Given the description of an element on the screen output the (x, y) to click on. 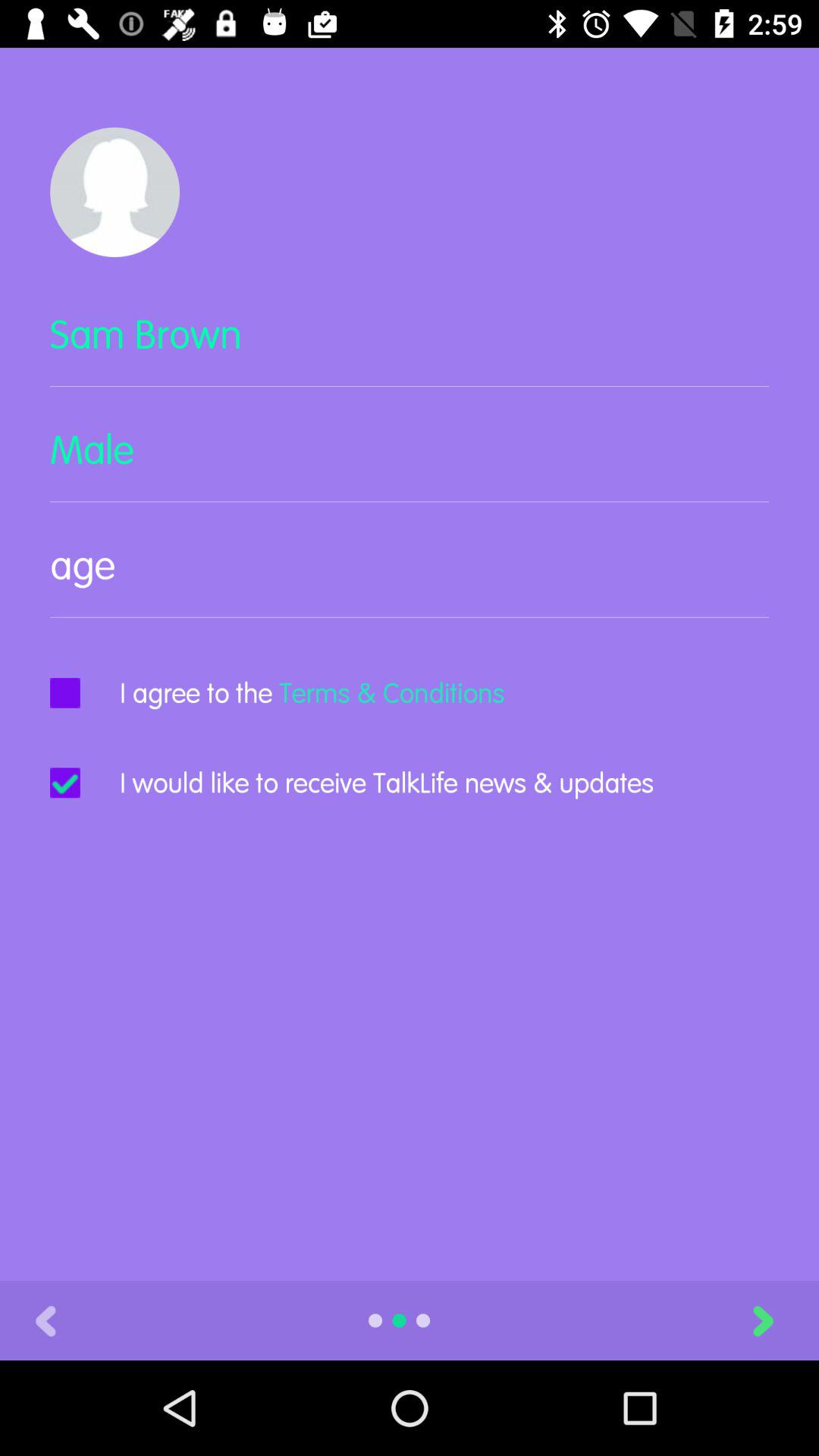
profile image icon (114, 192)
